Given the description of an element on the screen output the (x, y) to click on. 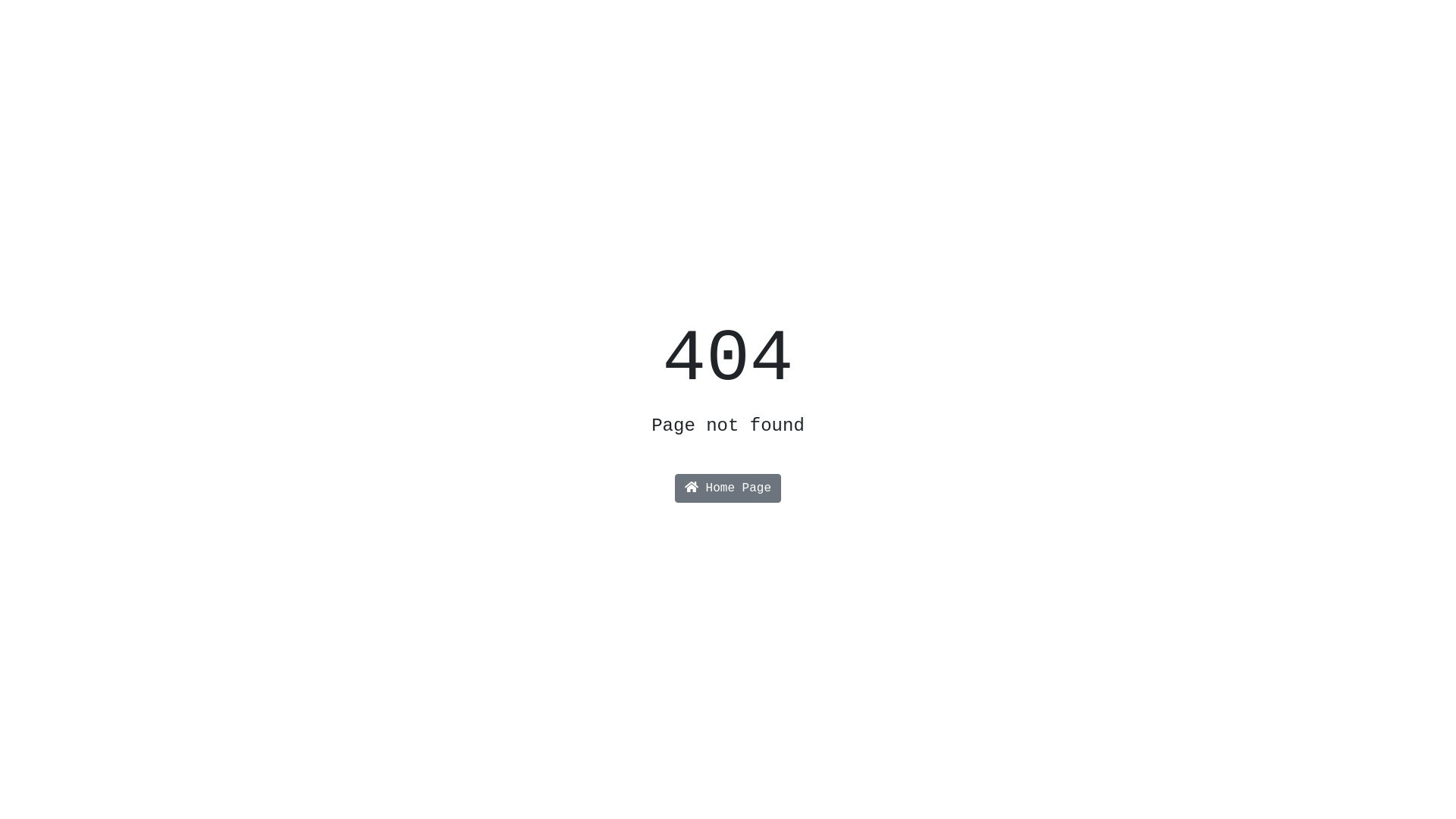
Home Page Element type: text (727, 487)
